Given the description of an element on the screen output the (x, y) to click on. 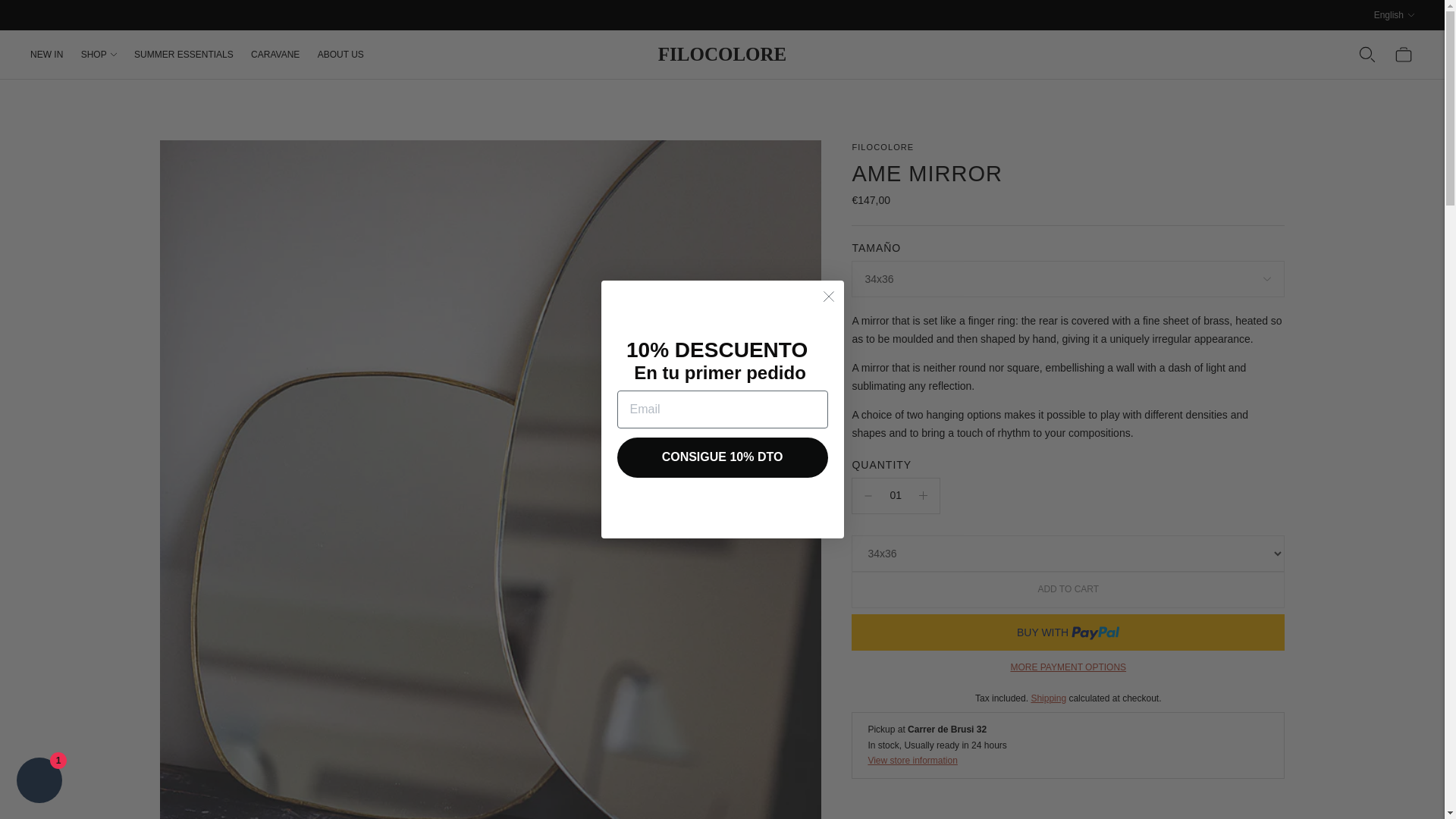
SHOP (98, 54)
English (1393, 14)
01 (895, 495)
FILOCOLORE (882, 146)
NEW IN (46, 54)
Shopify online store chat (38, 781)
